Given the description of an element on the screen output the (x, y) to click on. 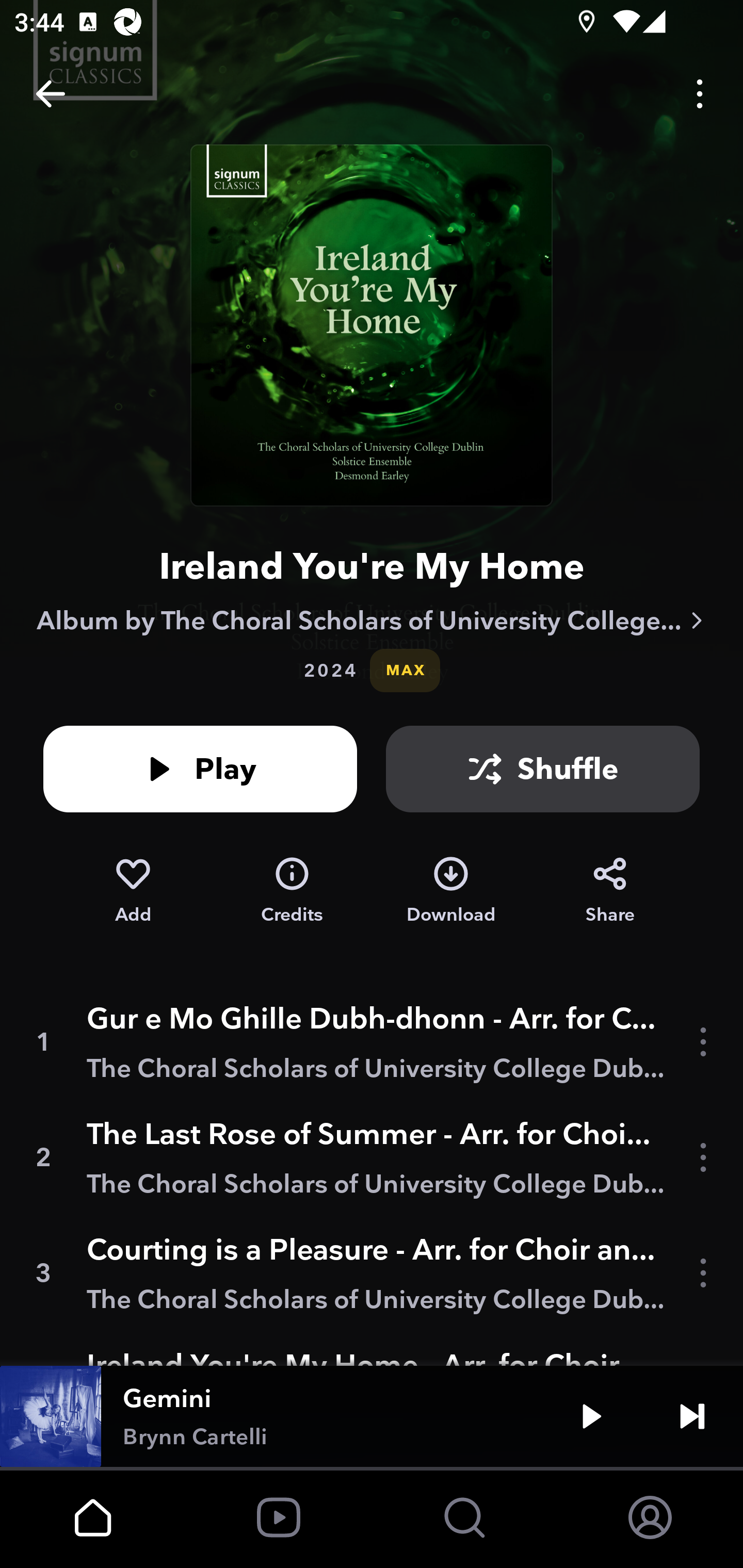
Options (699, 93)
Ireland You're My Home (371, 565)
Play (200, 768)
Shuffle (542, 768)
Add to My Collection Add (132, 890)
Credits (291, 890)
Download (450, 890)
Share (609, 890)
Gemini Brynn Cartelli Play (371, 1416)
Play (590, 1416)
